Given the description of an element on the screen output the (x, y) to click on. 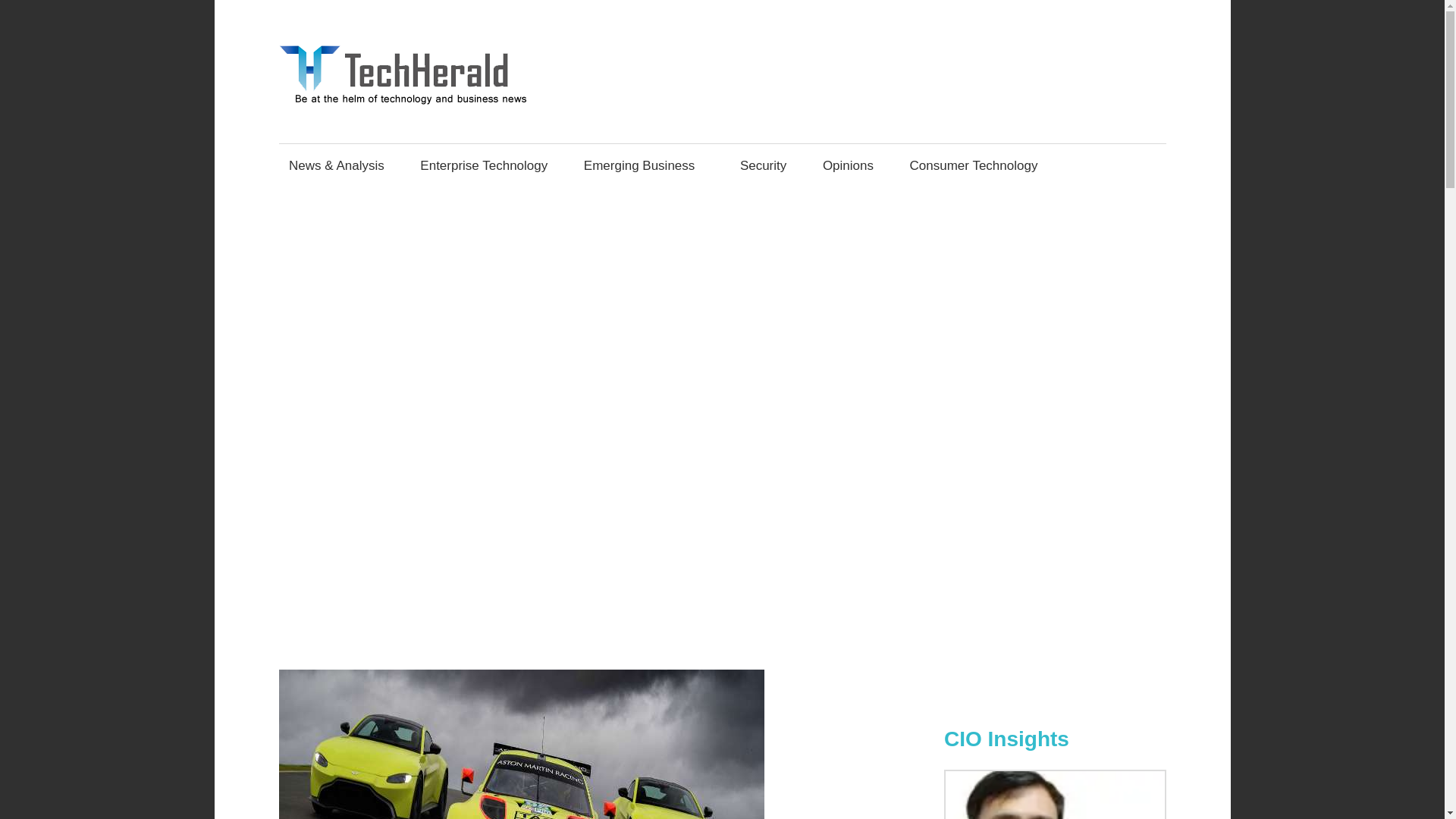
CIO Insights (1054, 738)
Consumer Technology (973, 164)
Emerging Business (643, 164)
Enterprise Technology (483, 164)
Security (762, 164)
Opinions (847, 164)
